Given the description of an element on the screen output the (x, y) to click on. 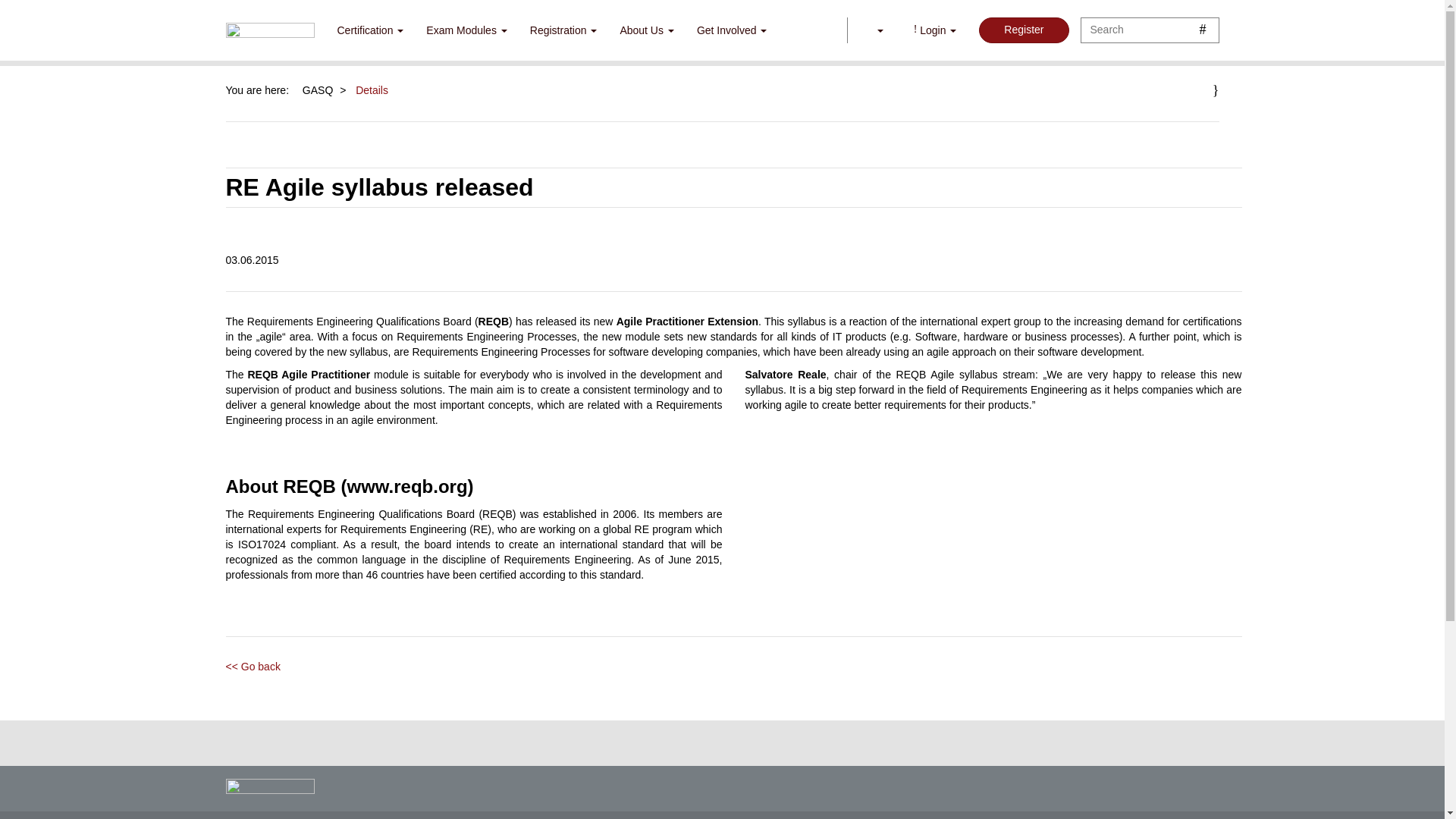
Exam Modules (466, 30)
Exam Modules (466, 30)
Certification (370, 30)
Certification (370, 30)
